Given the description of an element on the screen output the (x, y) to click on. 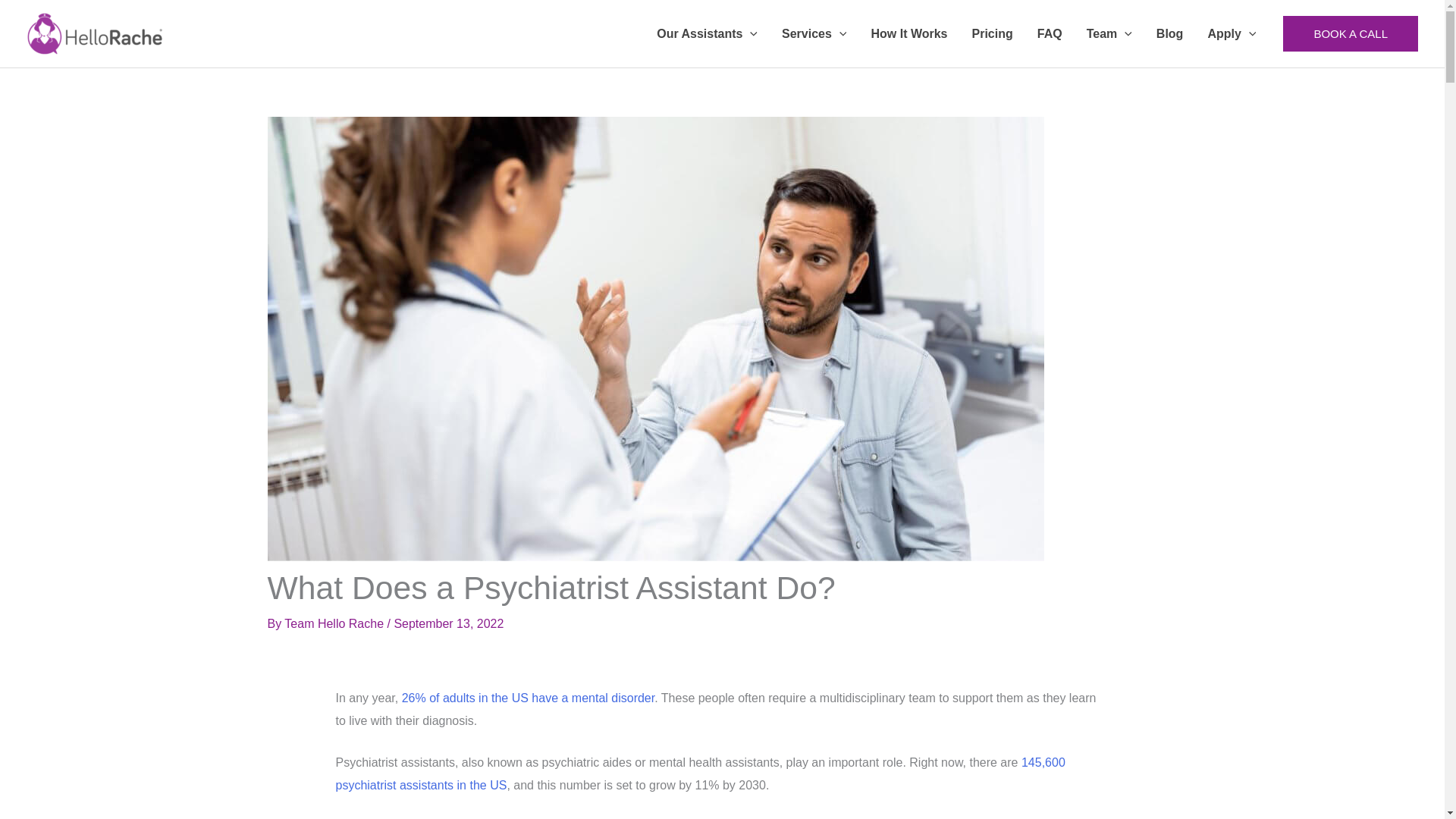
FAQ (1049, 33)
Apply (1231, 33)
Services (814, 33)
Pricing (992, 33)
How It Works (909, 33)
Blog (1169, 33)
View all posts by Team Hello Rache (335, 623)
BOOK A CALL (1350, 33)
Team (1109, 33)
Our Assistants (707, 33)
